Given the description of an element on the screen output the (x, y) to click on. 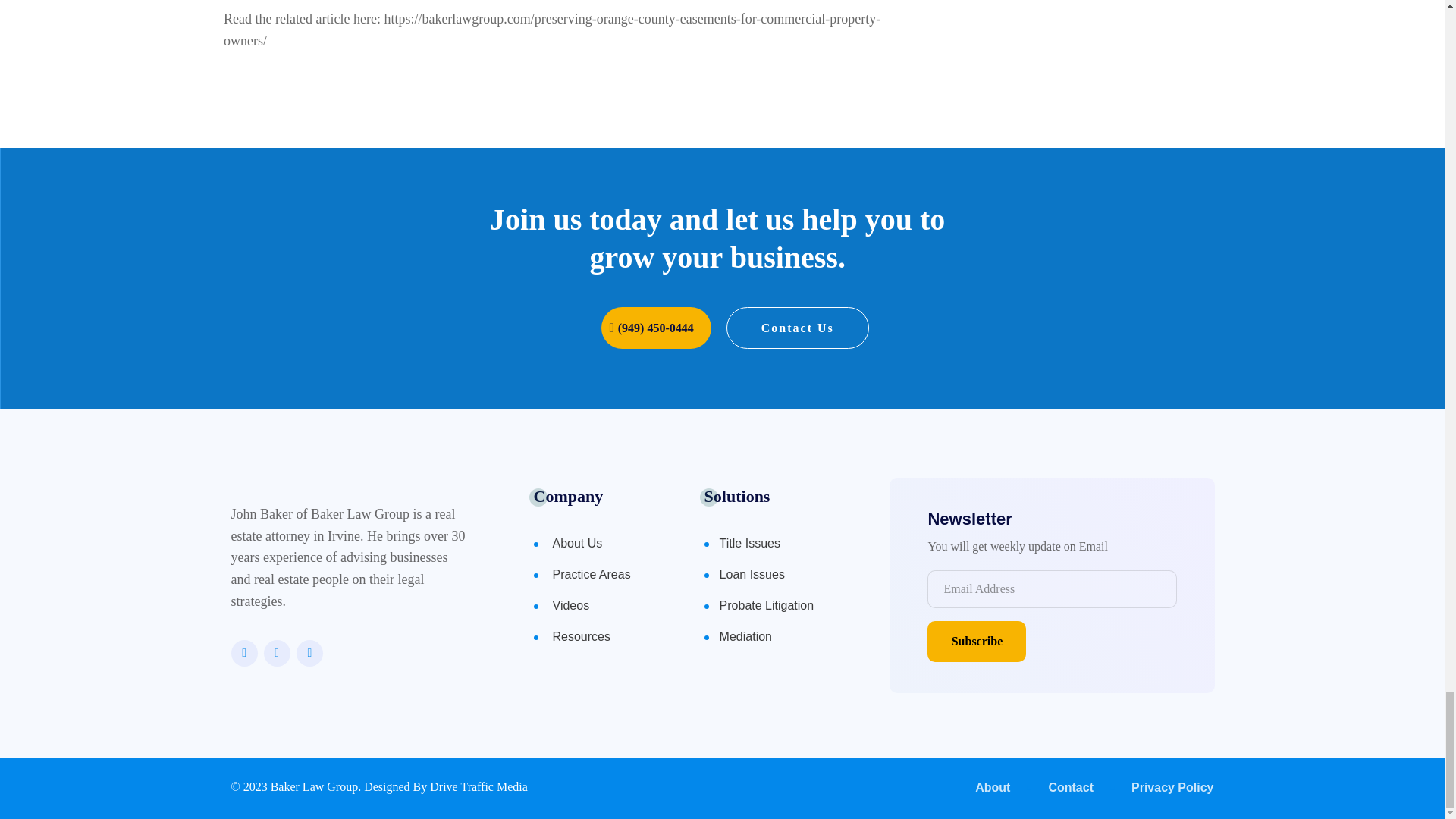
Loan Issues (793, 580)
Videos (596, 611)
Mediation (793, 642)
Probate Litigation (793, 611)
Title Issues (793, 549)
Subscribe (976, 640)
Contact Us (797, 327)
Practice Areas (596, 580)
About Us (596, 549)
Subscribe (976, 640)
